Given the description of an element on the screen output the (x, y) to click on. 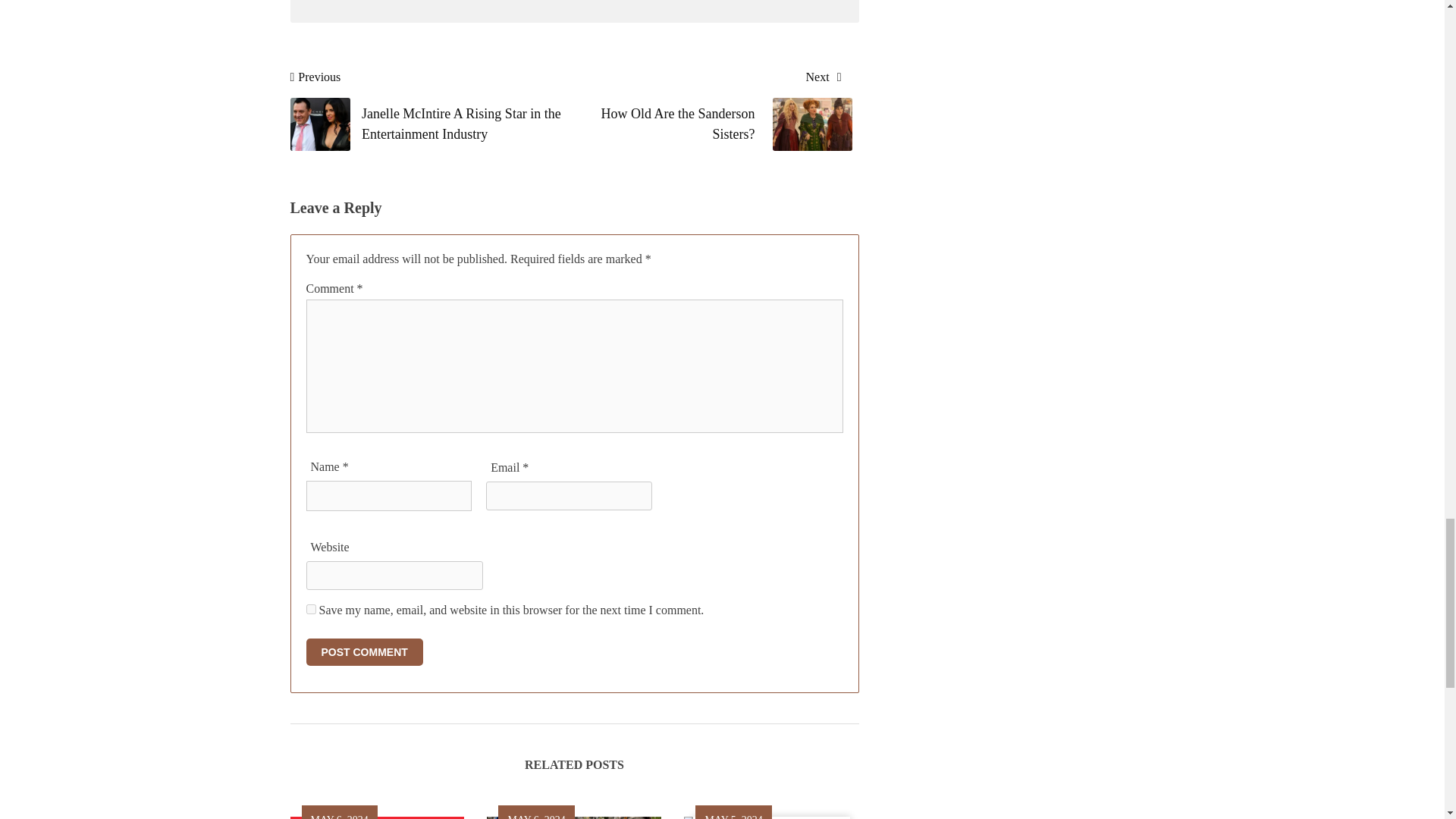
Post Comment (364, 651)
Post Comment (364, 651)
yes (703, 110)
MAY 6, 2024 (310, 609)
